Given the description of an element on the screen output the (x, y) to click on. 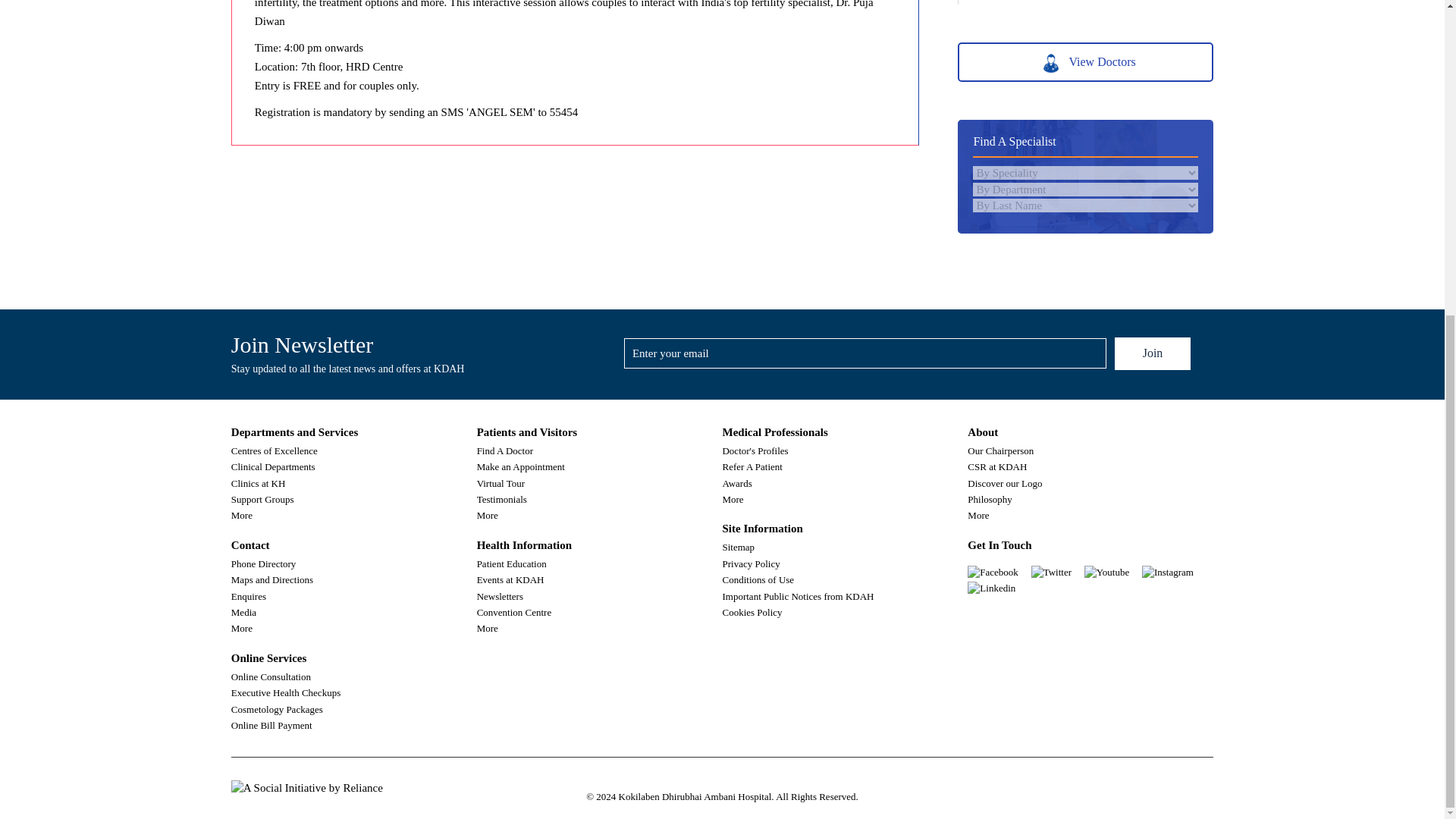
Join (1153, 353)
